Given the description of an element on the screen output the (x, y) to click on. 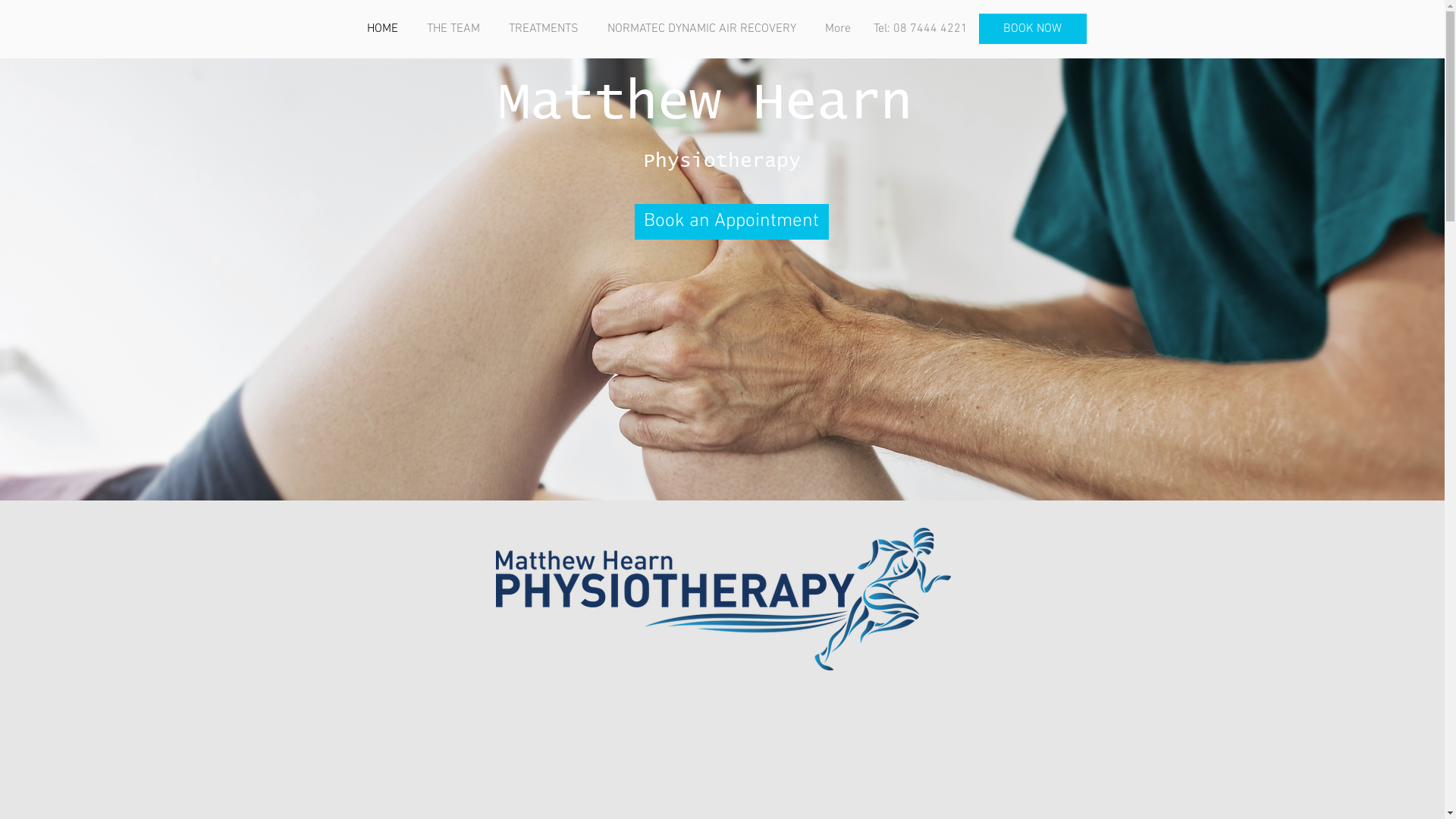
Book an Appointment Element type: text (730, 221)
BOOK NOW Element type: text (1031, 28)
NORMATEC DYNAMIC AIR RECOVERY Element type: text (704, 28)
TREATMENTS Element type: text (546, 28)
HOME Element type: text (384, 28)
THE TEAM Element type: text (456, 28)
